Given the description of an element on the screen output the (x, y) to click on. 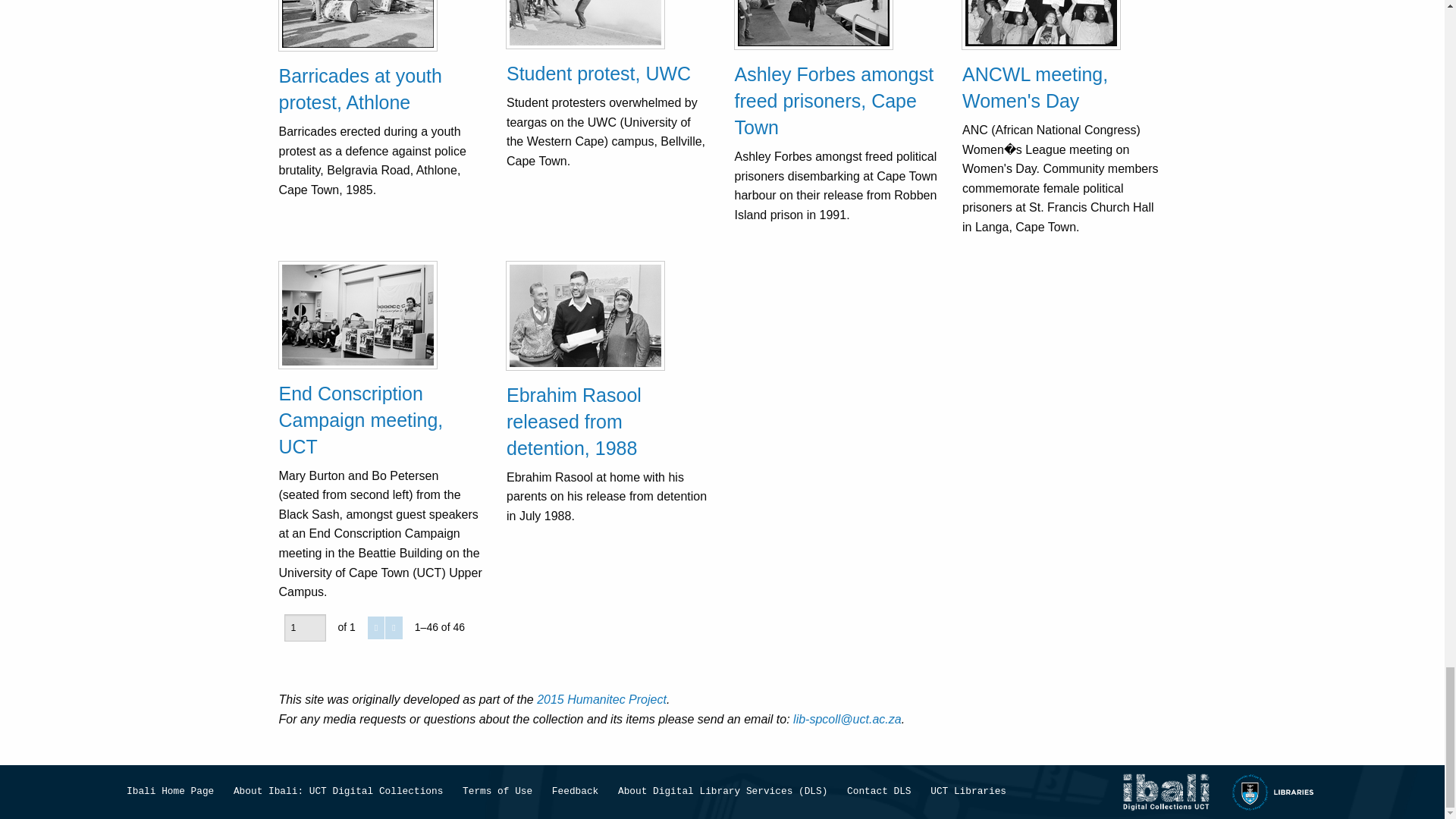
University of Cape Town Library Main Site (1274, 791)
1 (303, 627)
Ibali Landing Page (1165, 792)
